Given the description of an element on the screen output the (x, y) to click on. 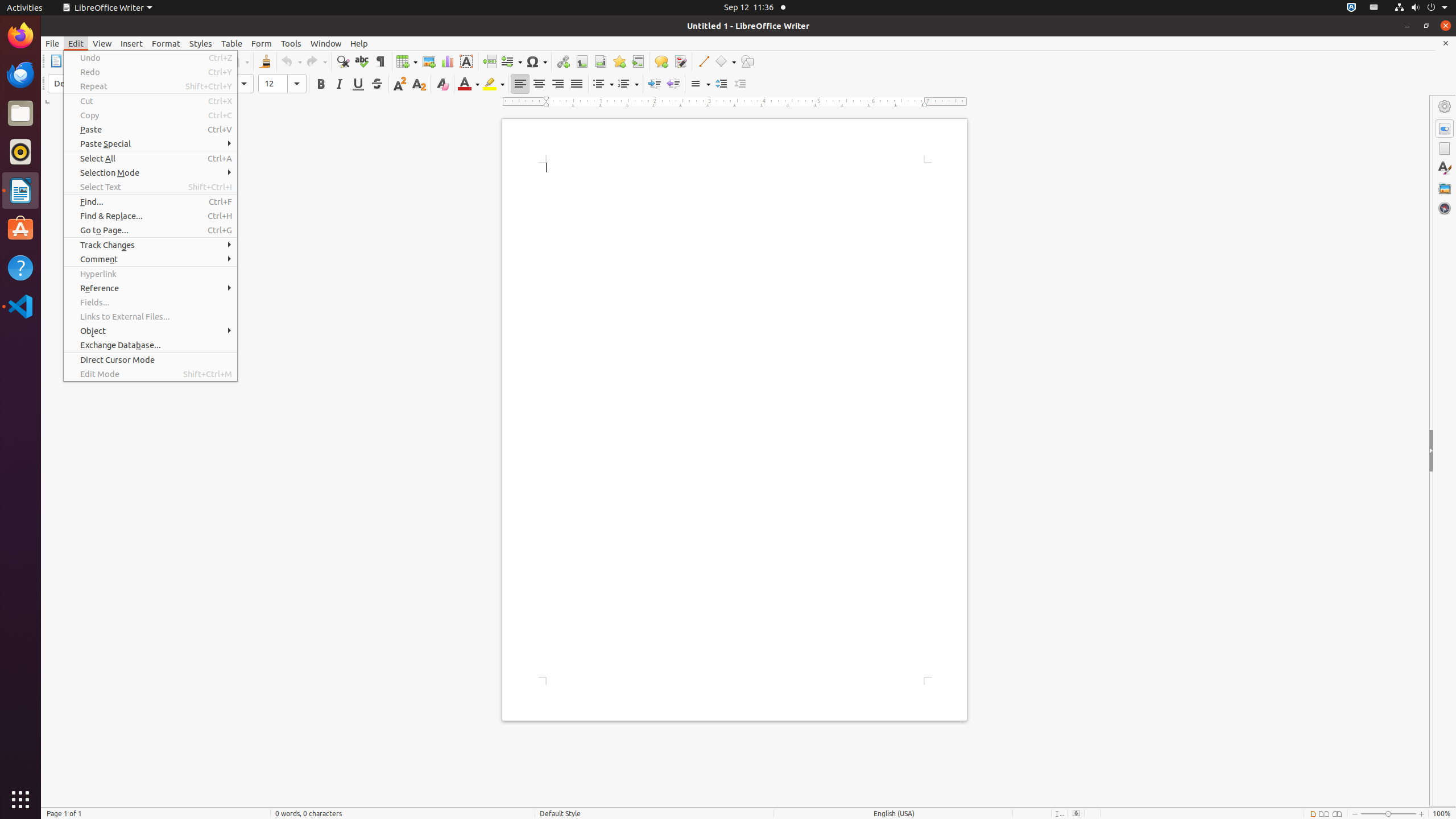
Footnote Element type: push-button (581, 61)
Redo Element type: push-button (315, 61)
Links to External Files... Element type: menu-item (150, 316)
Cut Element type: menu-item (150, 100)
Strikethrough Element type: toggle-button (376, 83)
